Given the description of an element on the screen output the (x, y) to click on. 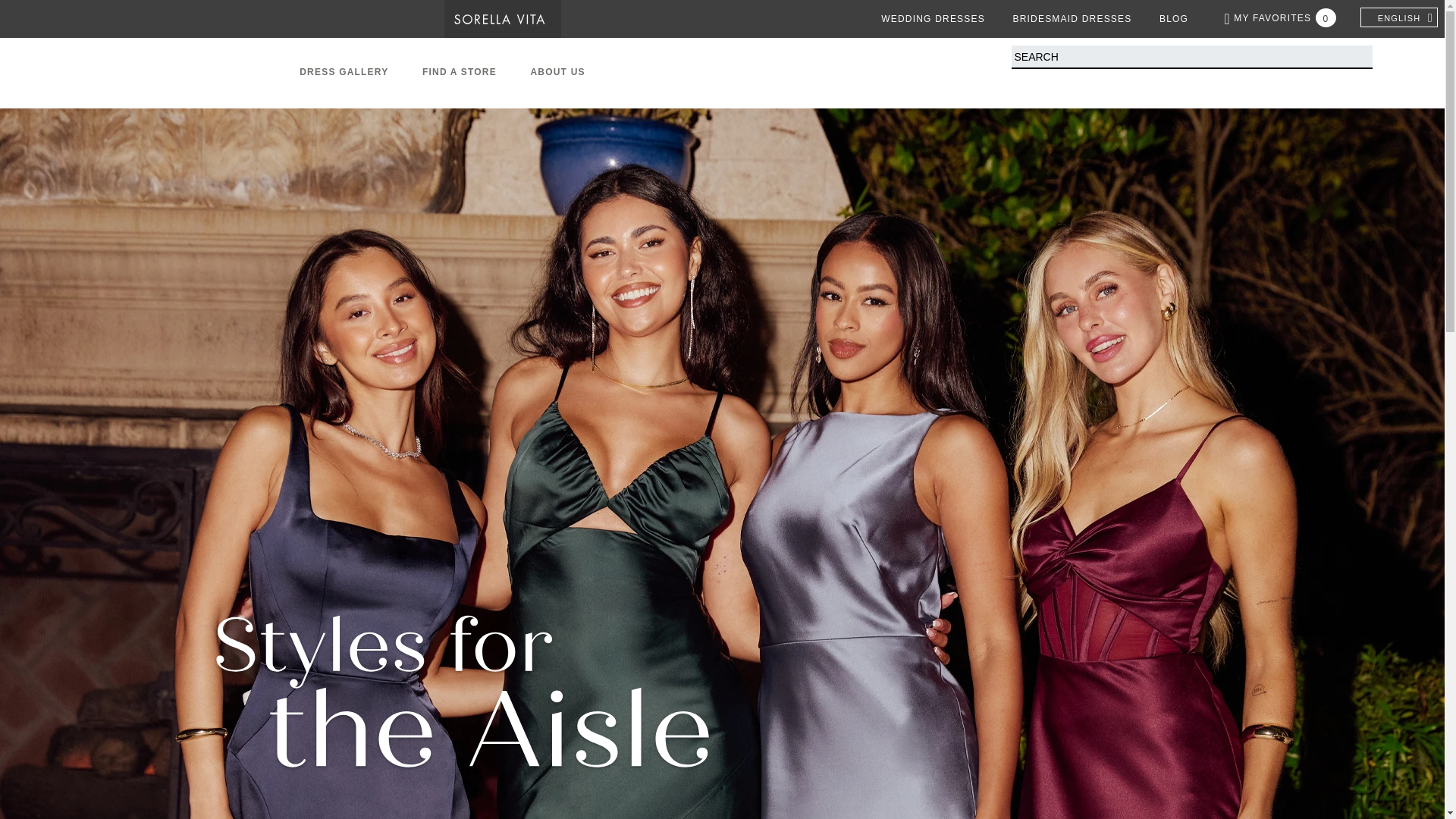
Essense of Australia (51, 18)
WEDDING DRESSES (933, 18)
My Favorites (1280, 17)
All Who Wander (393, 18)
Sorella Vita (503, 18)
Please enter at least three characters (1192, 56)
Martina Liana (162, 18)
Stella York (282, 18)
